Given the description of an element on the screen output the (x, y) to click on. 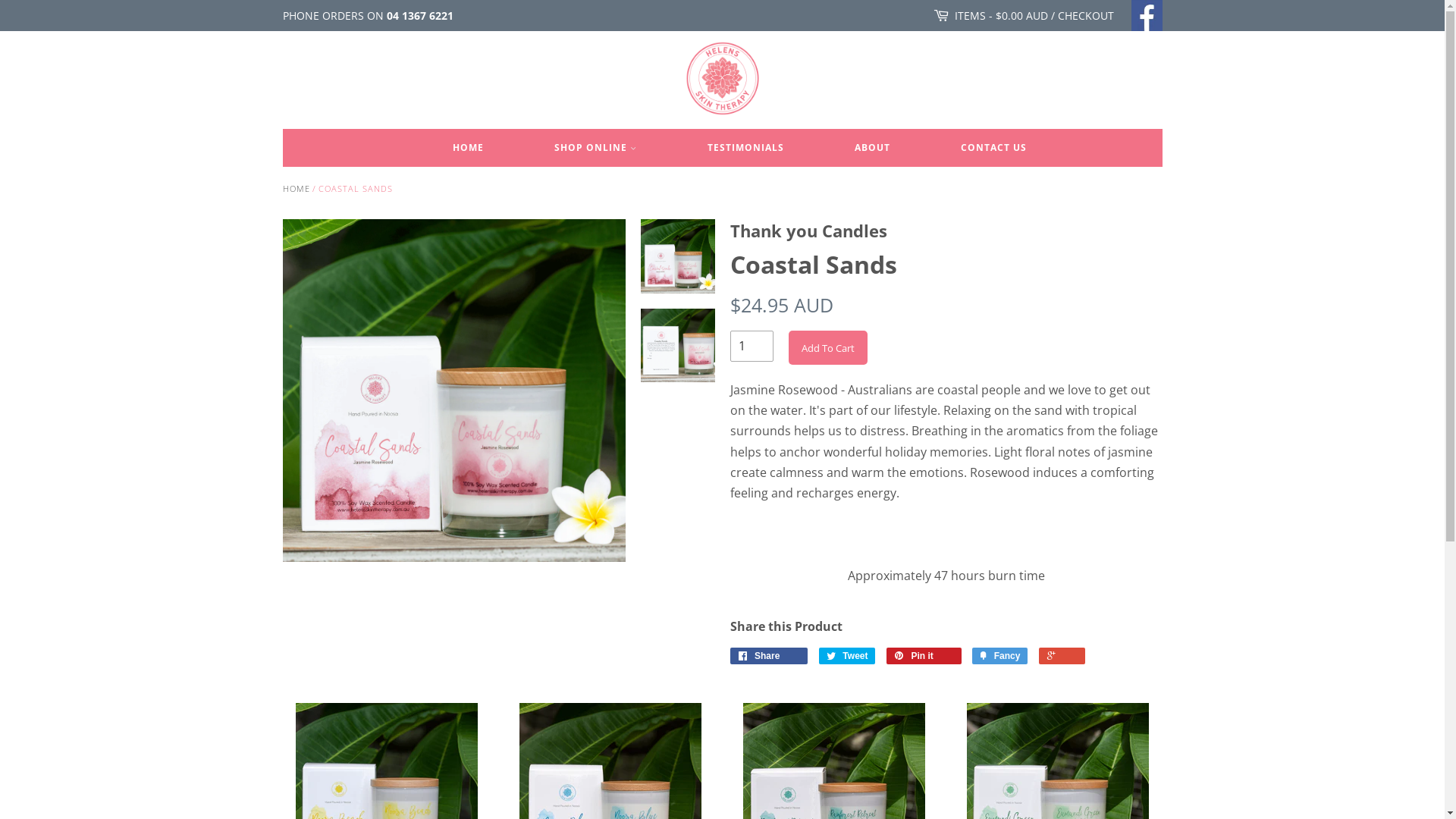
HOME Element type: text (467, 147)
Share Element type: text (768, 655)
HOME Element type: text (295, 188)
ITEMS - $0.00 AUD / CHECKOUT Element type: text (1033, 15)
Tweet Element type: text (847, 655)
Fancy Element type: text (999, 655)
ABOUT Element type: text (872, 147)
Pin it Element type: text (923, 655)
CONTACT US Element type: text (976, 147)
TESTIMONIALS Element type: text (745, 147)
Add To Cart Element type: text (827, 347)
SHOP ONLINE Element type: text (595, 147)
